Given the description of an element on the screen output the (x, y) to click on. 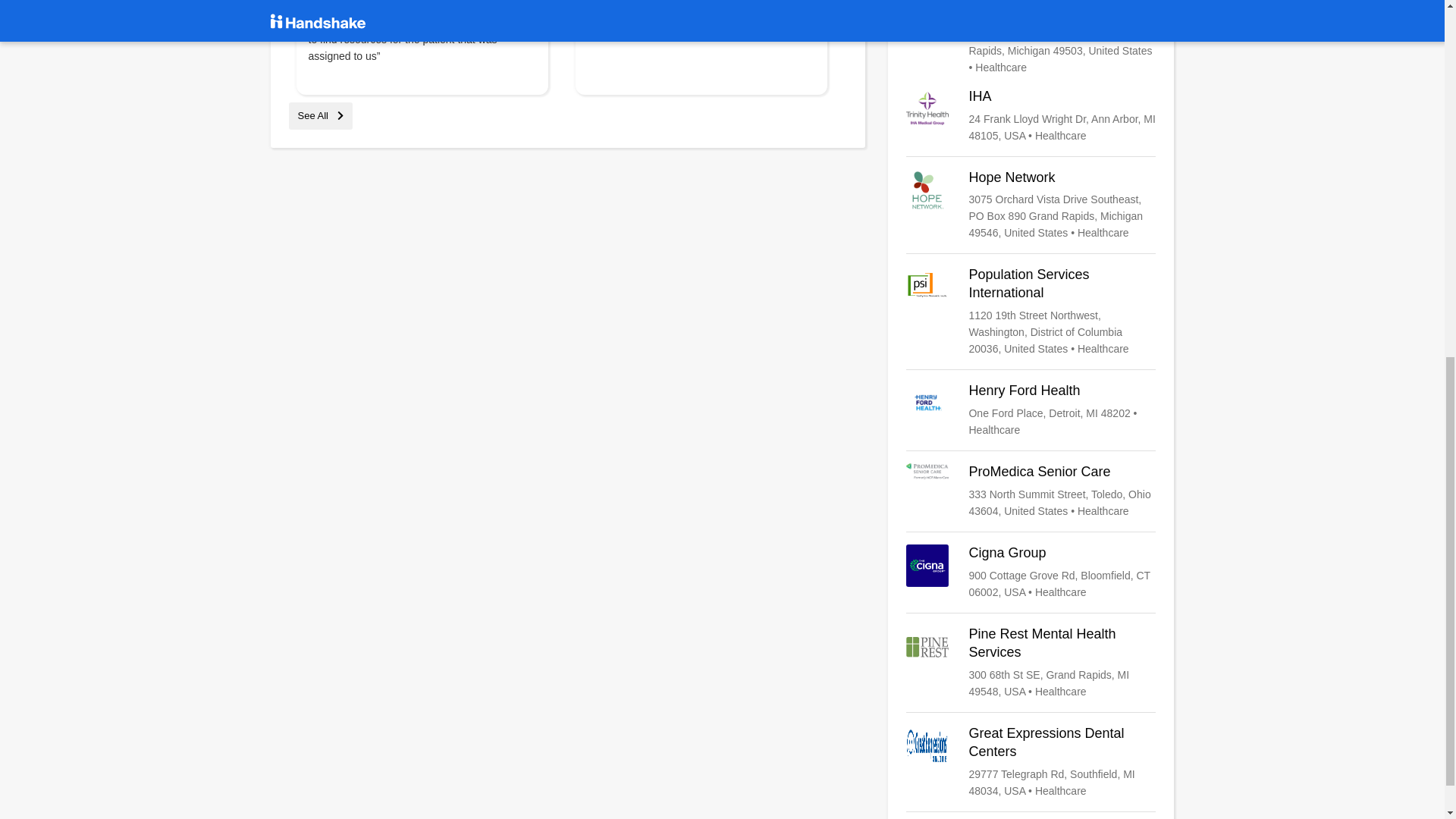
Henry Ford Health (1030, 410)
Hope Network (1030, 204)
Population Services International (1030, 311)
Great Expressions Dental Centers (1030, 761)
IHA (1030, 115)
Cigna Group (1030, 572)
Pine Rest Mental Health Services (1030, 662)
ProMedica Senior Care (1030, 491)
See All (320, 115)
Mary Free Bed Rehabilitation Hospital (1030, 38)
